Given the description of an element on the screen output the (x, y) to click on. 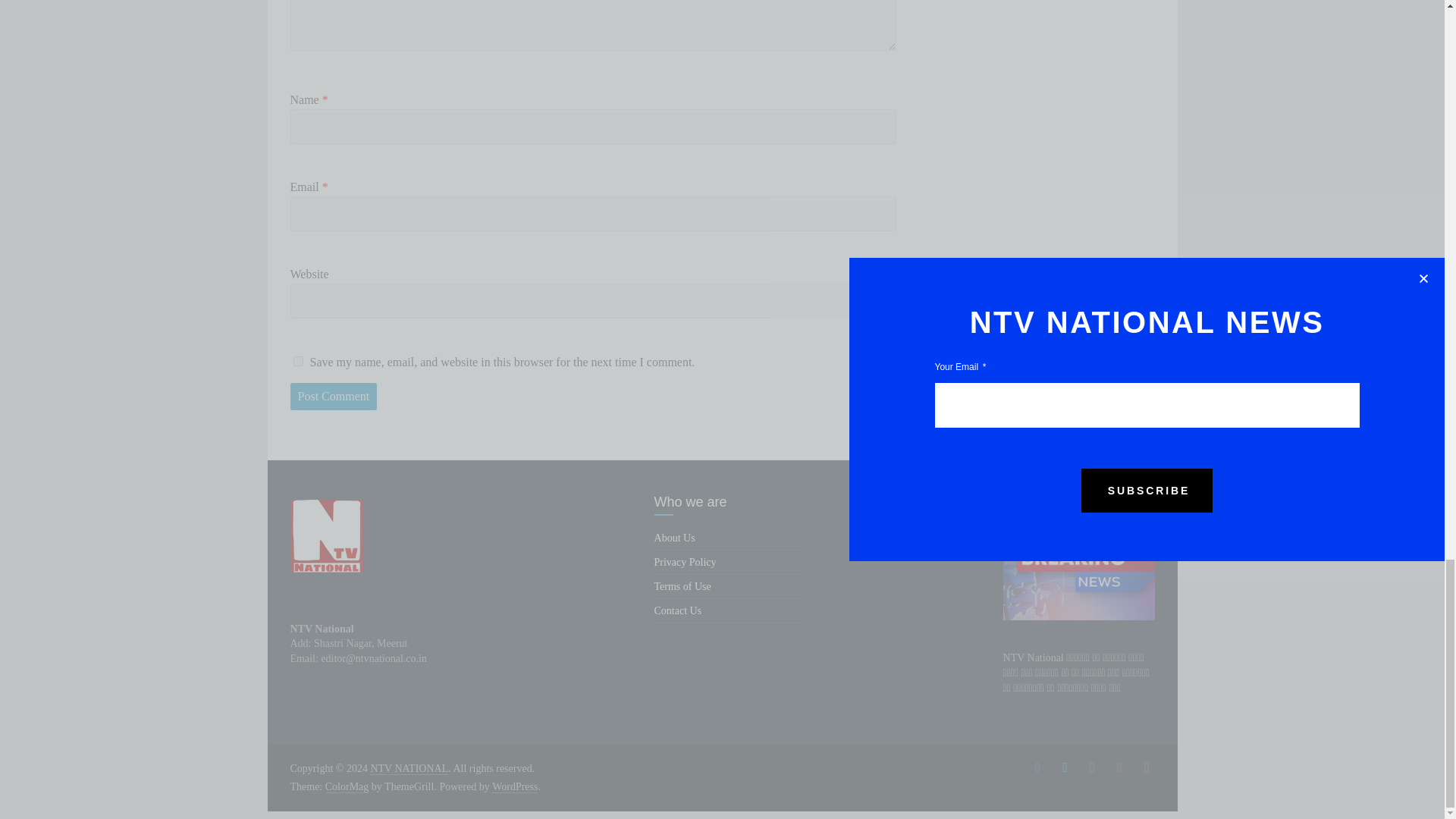
yes (297, 361)
Post Comment (333, 396)
